Given the description of an element on the screen output the (x, y) to click on. 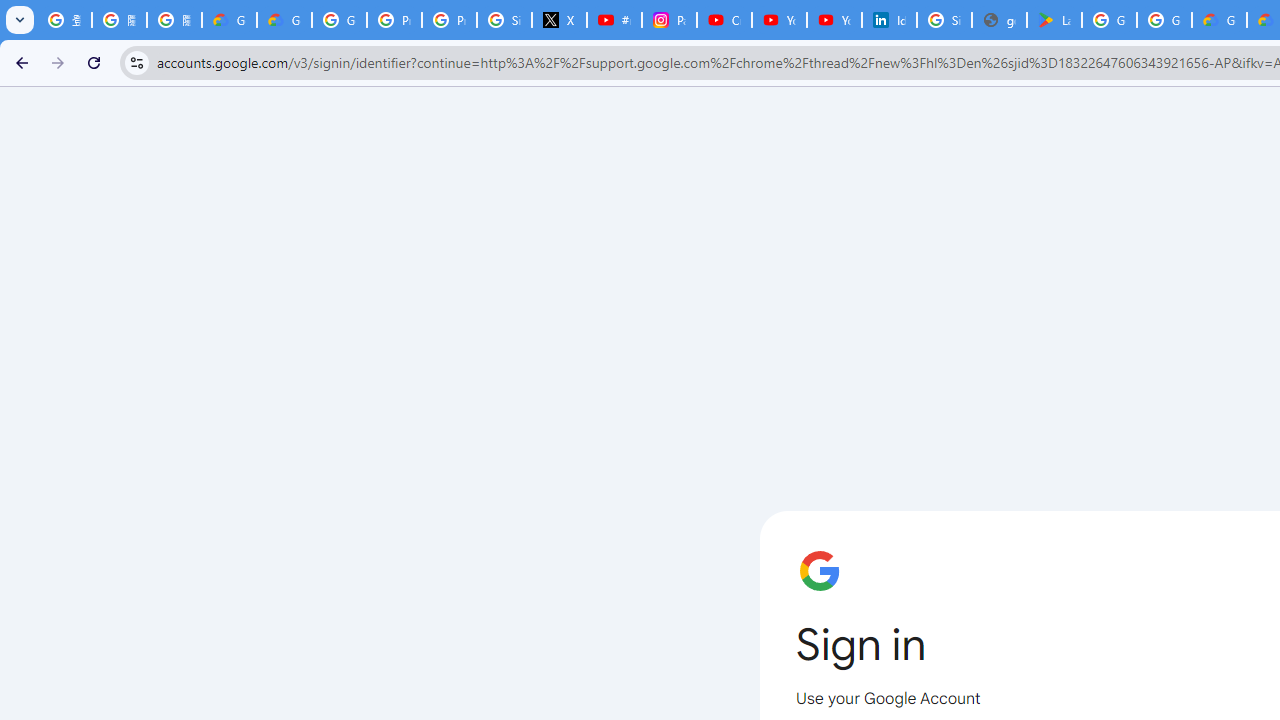
Google Cloud Privacy Notice (284, 20)
Privacy Help Center - Policies Help (394, 20)
Last Shelter: Survival - Apps on Google Play (1053, 20)
Sign in - Google Accounts (504, 20)
Government | Google Cloud (1218, 20)
YouTube Culture & Trends - YouTube Top 10, 2021 (833, 20)
